Given the description of an element on the screen output the (x, y) to click on. 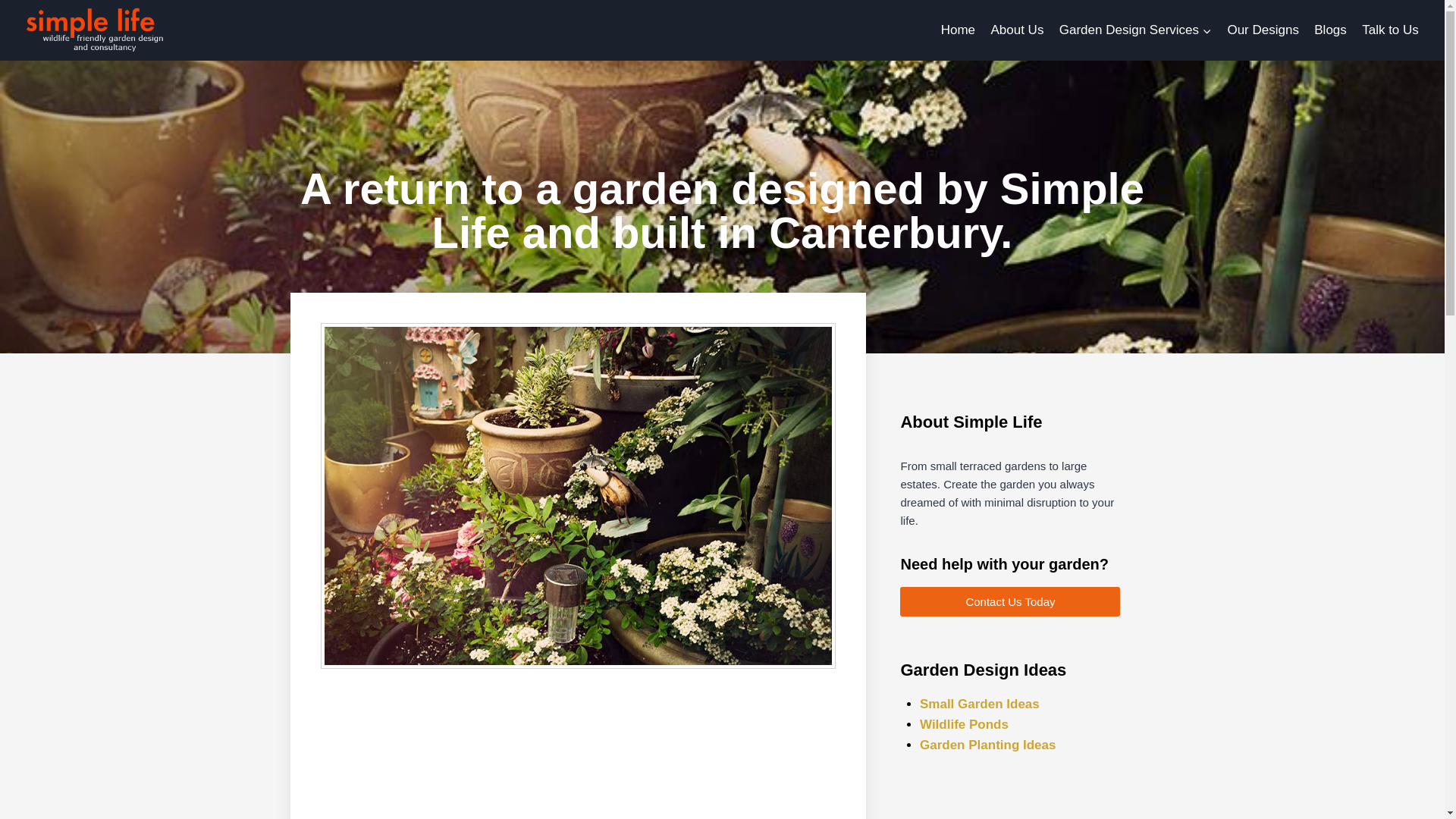
Garden Design Services (1135, 30)
Read all blog posts with garden planting ideas (988, 744)
Contact Us Today (1009, 601)
Garden Planting Ideas (988, 744)
Small Garden Ideas (979, 703)
Home (958, 30)
Read all blog posts containing ideas for small gardens (979, 703)
Read all blog posts about wildlife ponds (964, 724)
About Us (1016, 30)
Our Designs (1263, 30)
Blogs (1330, 30)
Talk to Us (1390, 30)
Wildlife Ponds (964, 724)
